Given the description of an element on the screen output the (x, y) to click on. 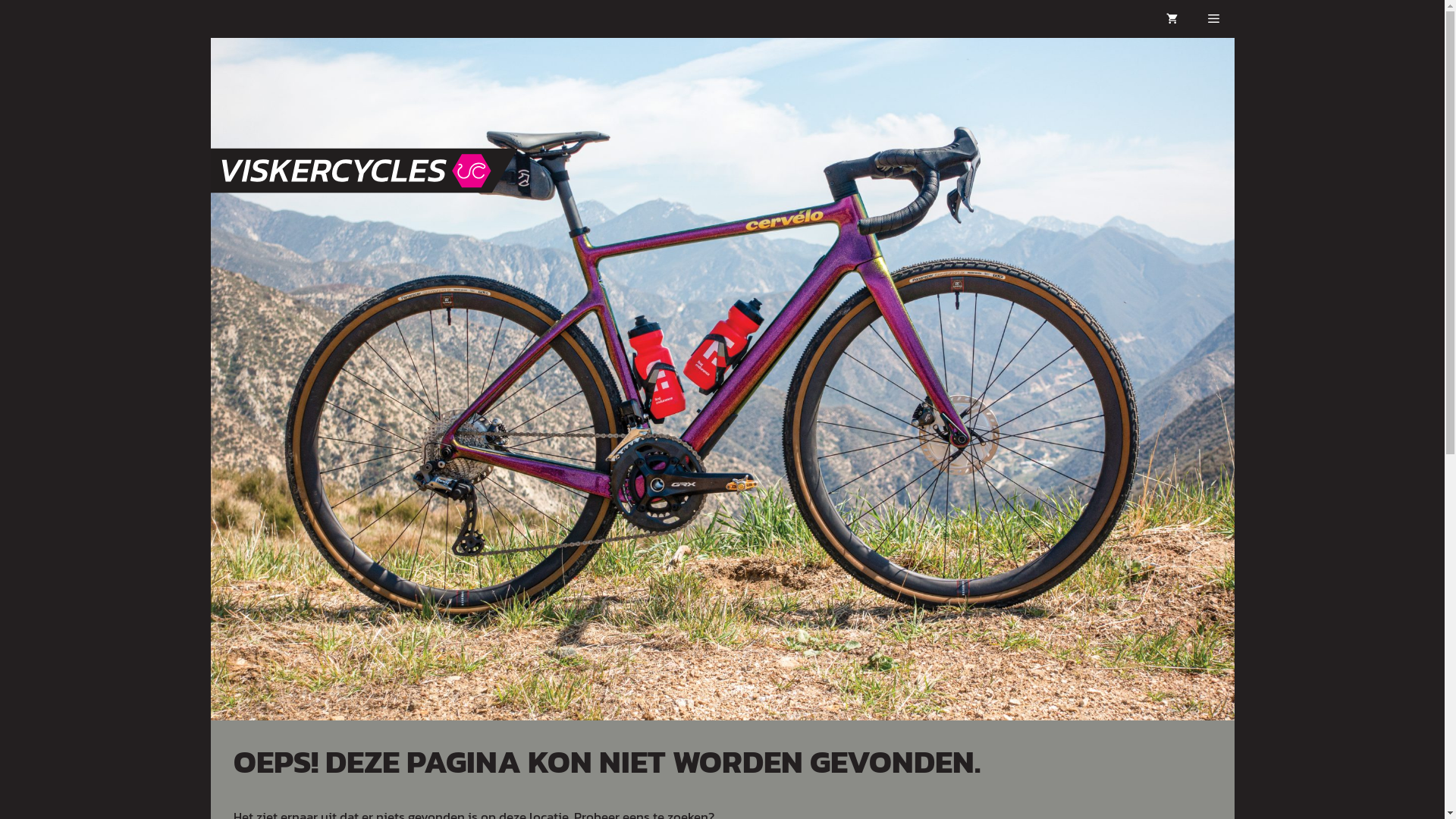
Bekijk je winkelmand Element type: hover (1171, 18)
